Given the description of an element on the screen output the (x, y) to click on. 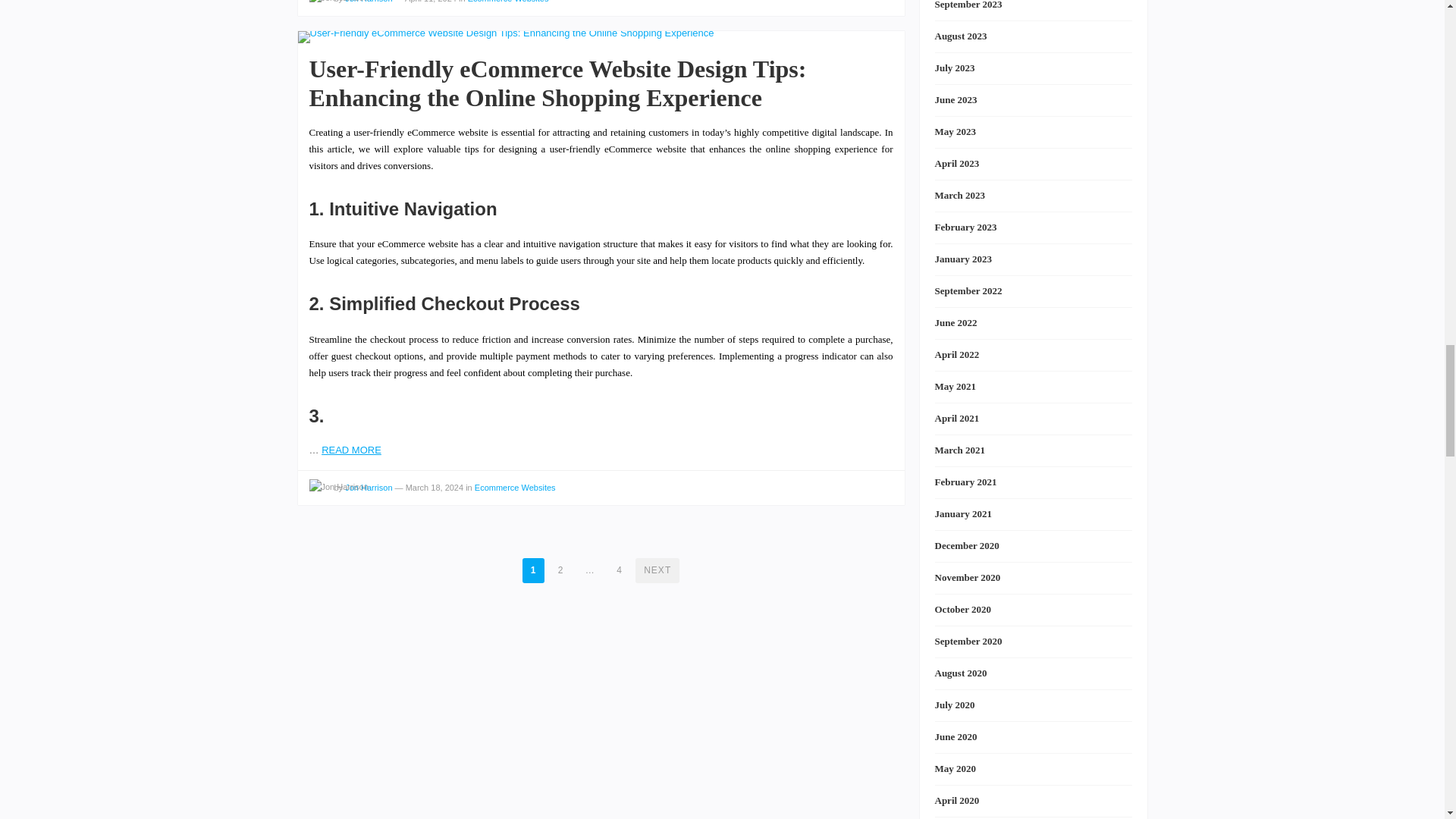
View all posts by Jon Harrison (338, 487)
View all posts by Jon Harrison (338, 2)
